Given the description of an element on the screen output the (x, y) to click on. 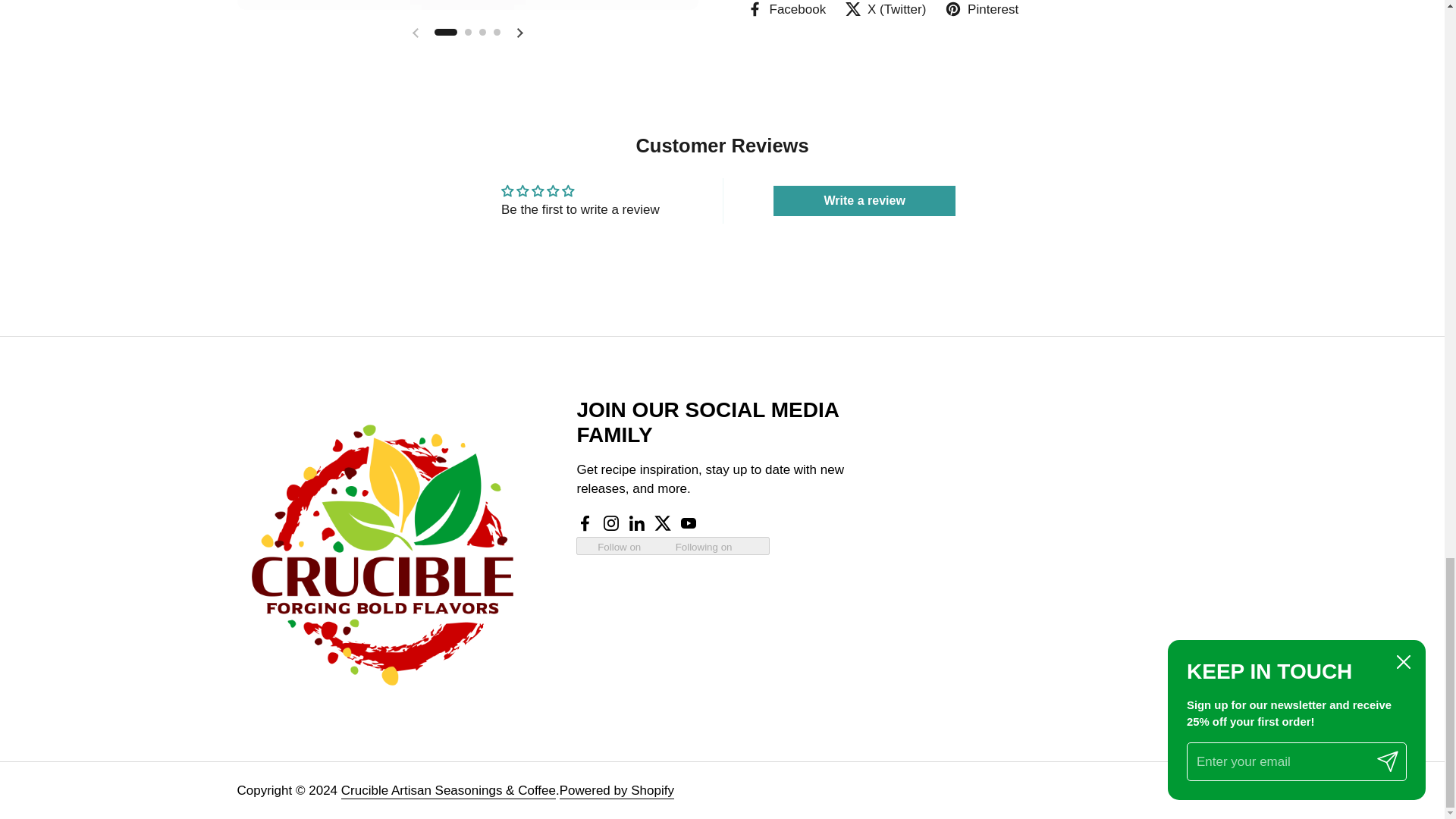
Write a review (864, 200)
Facebook (585, 524)
Share on X (885, 9)
Instagram (611, 524)
Pinterest (980, 9)
Facebook (785, 9)
Share on pinterest (980, 9)
Share on facebook (785, 9)
